Given the description of an element on the screen output the (x, y) to click on. 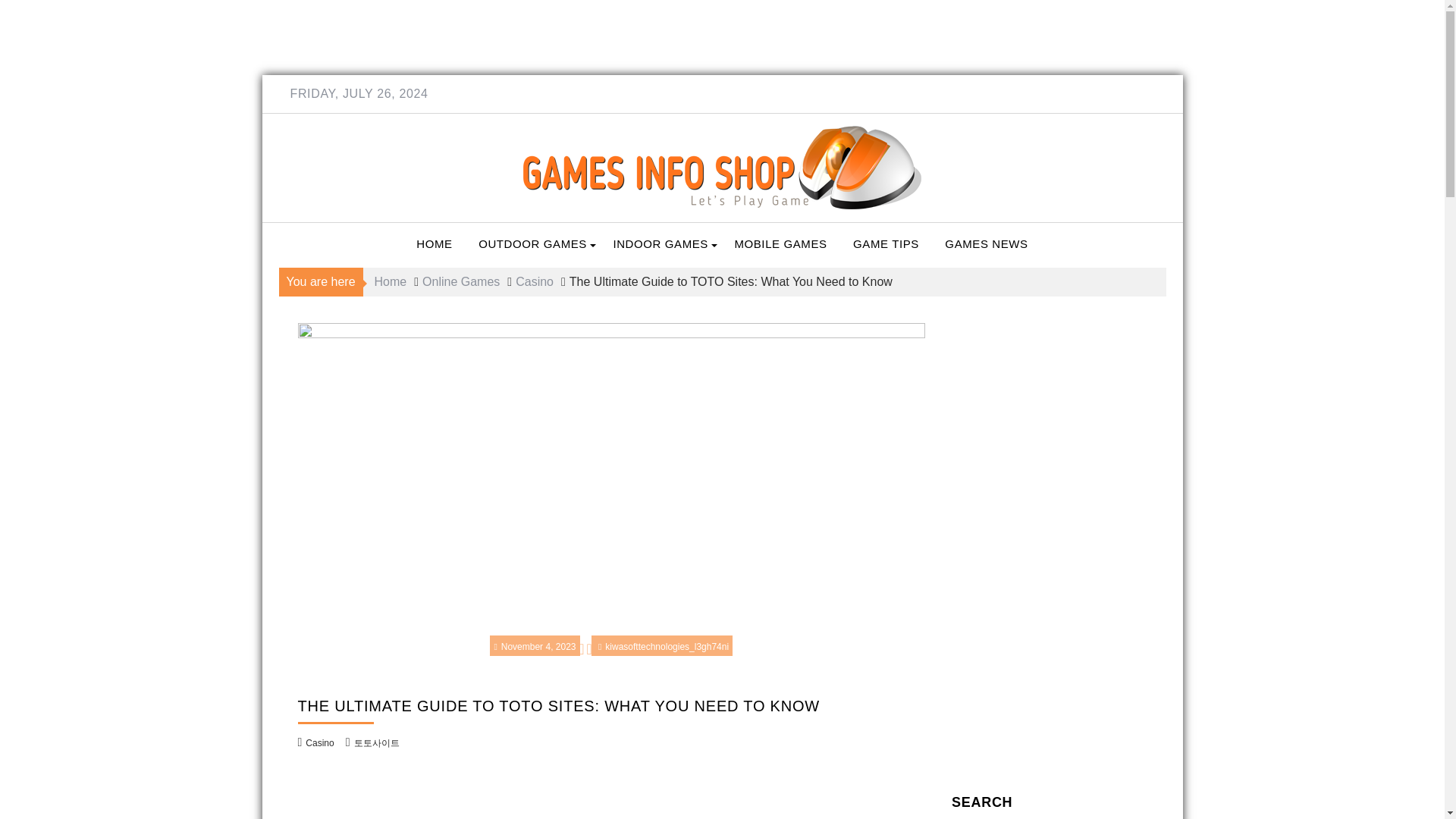
INDOOR GAMES (660, 244)
November 4, 2023 (534, 646)
HOME (433, 244)
Casino (534, 281)
Home (390, 281)
GAME TIPS (885, 244)
Online Games (460, 281)
GAMES NEWS (986, 244)
Casino (319, 742)
OUTDOOR GAMES (532, 244)
MOBILE GAMES (780, 244)
